Given the description of an element on the screen output the (x, y) to click on. 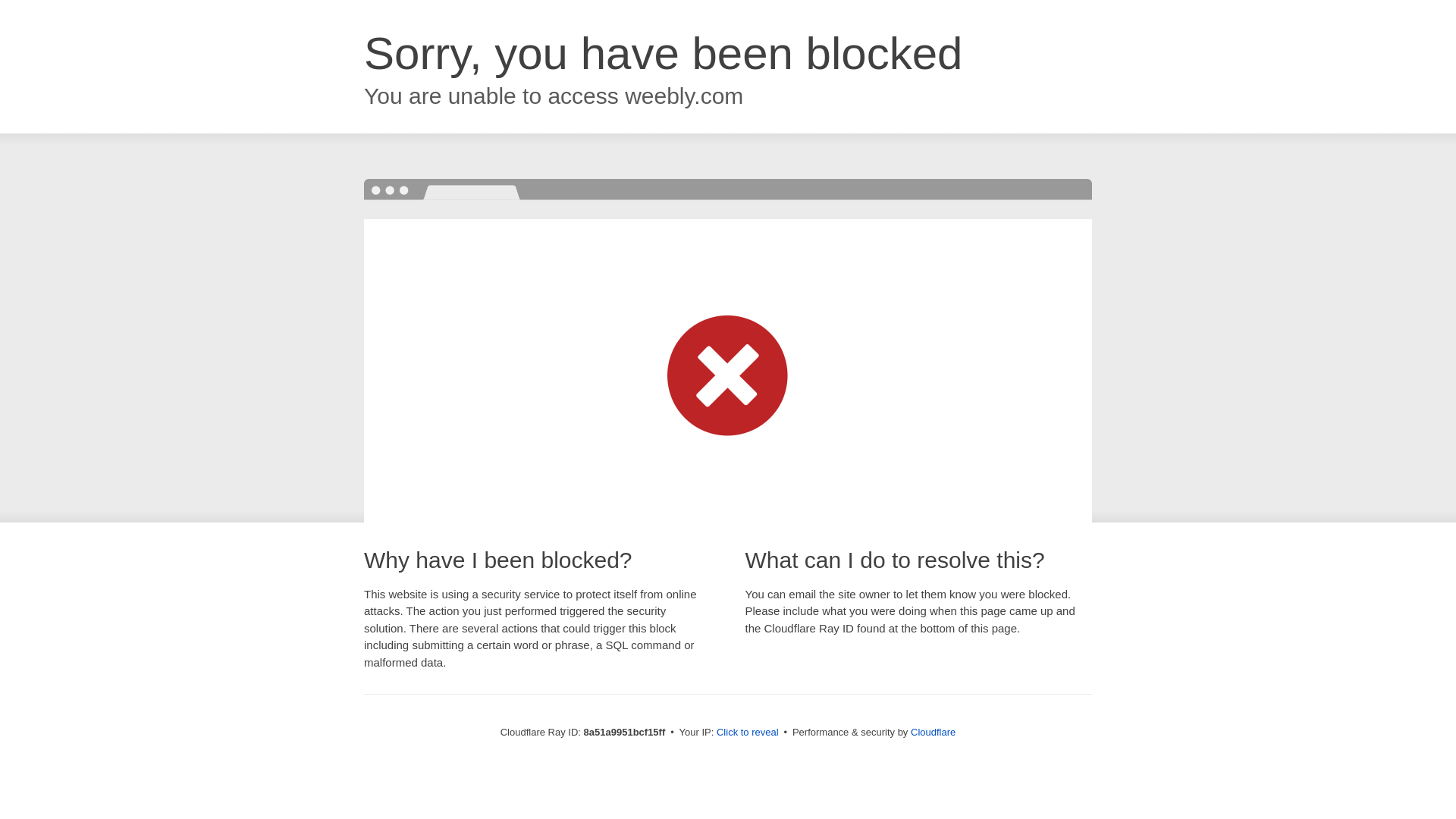
Click to reveal (747, 732)
Cloudflare (933, 731)
